Given the description of an element on the screen output the (x, y) to click on. 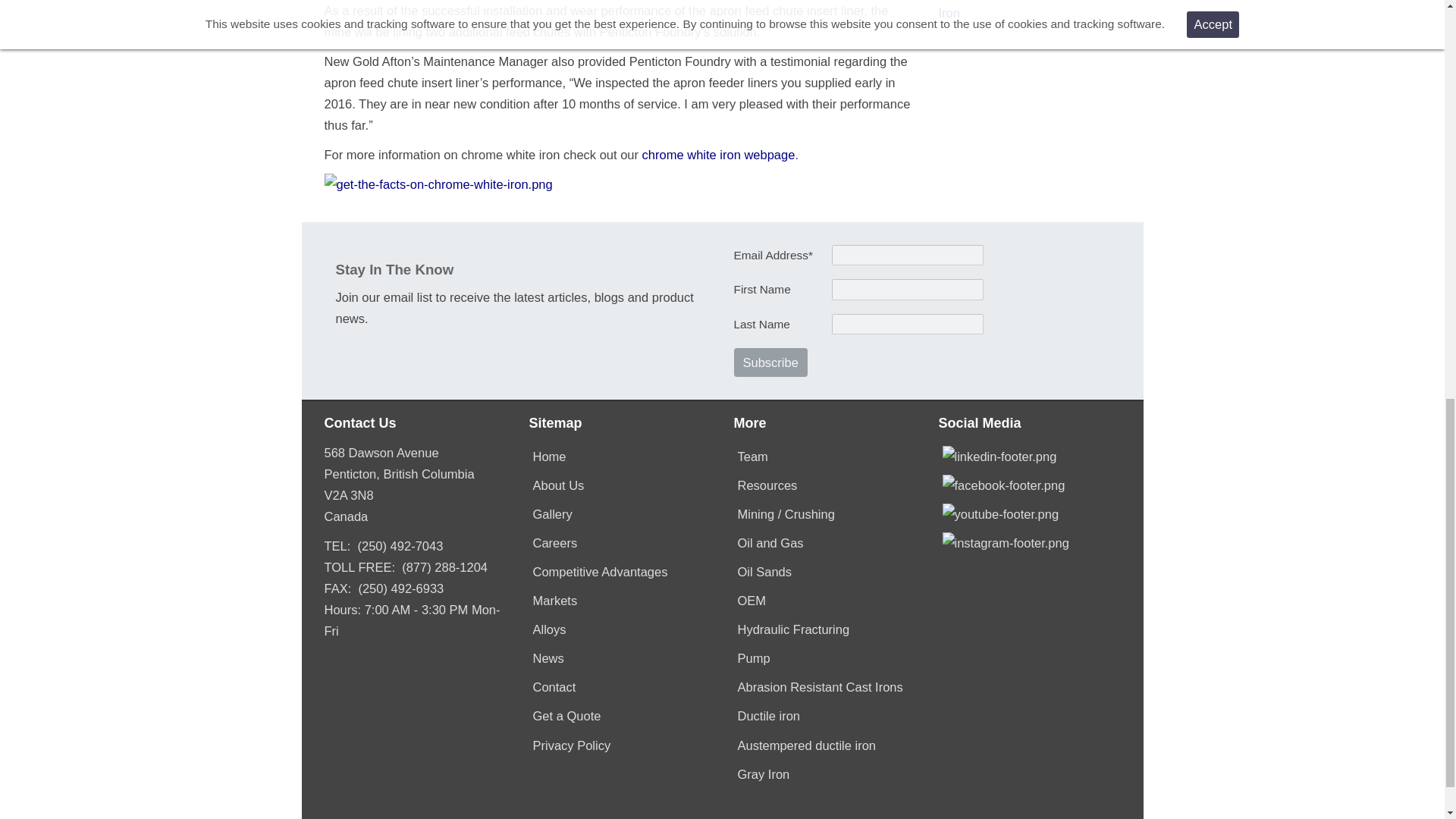
Subscribe (770, 362)
